Given the description of an element on the screen output the (x, y) to click on. 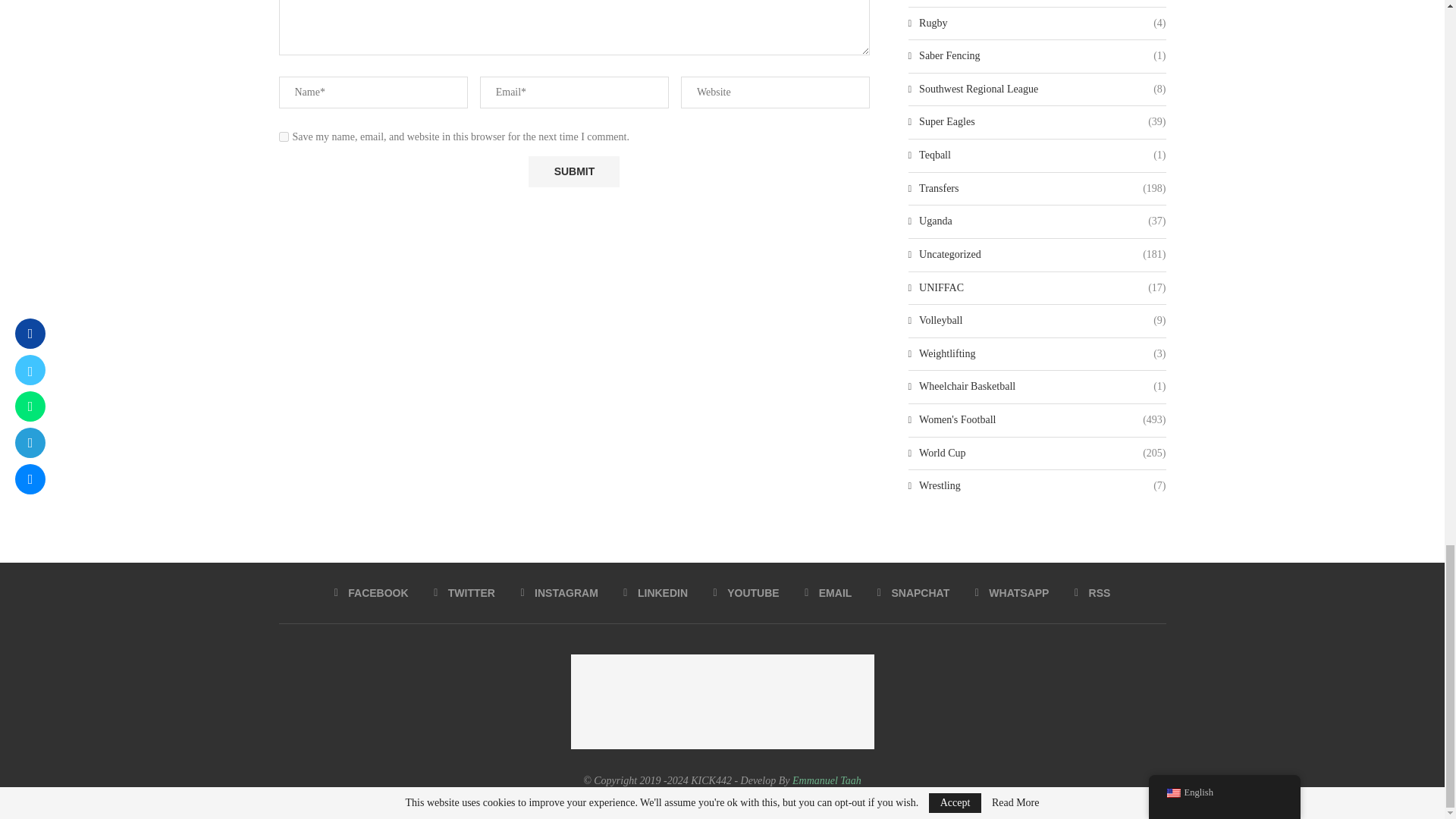
Submit (574, 171)
yes (283, 136)
